Given the description of an element on the screen output the (x, y) to click on. 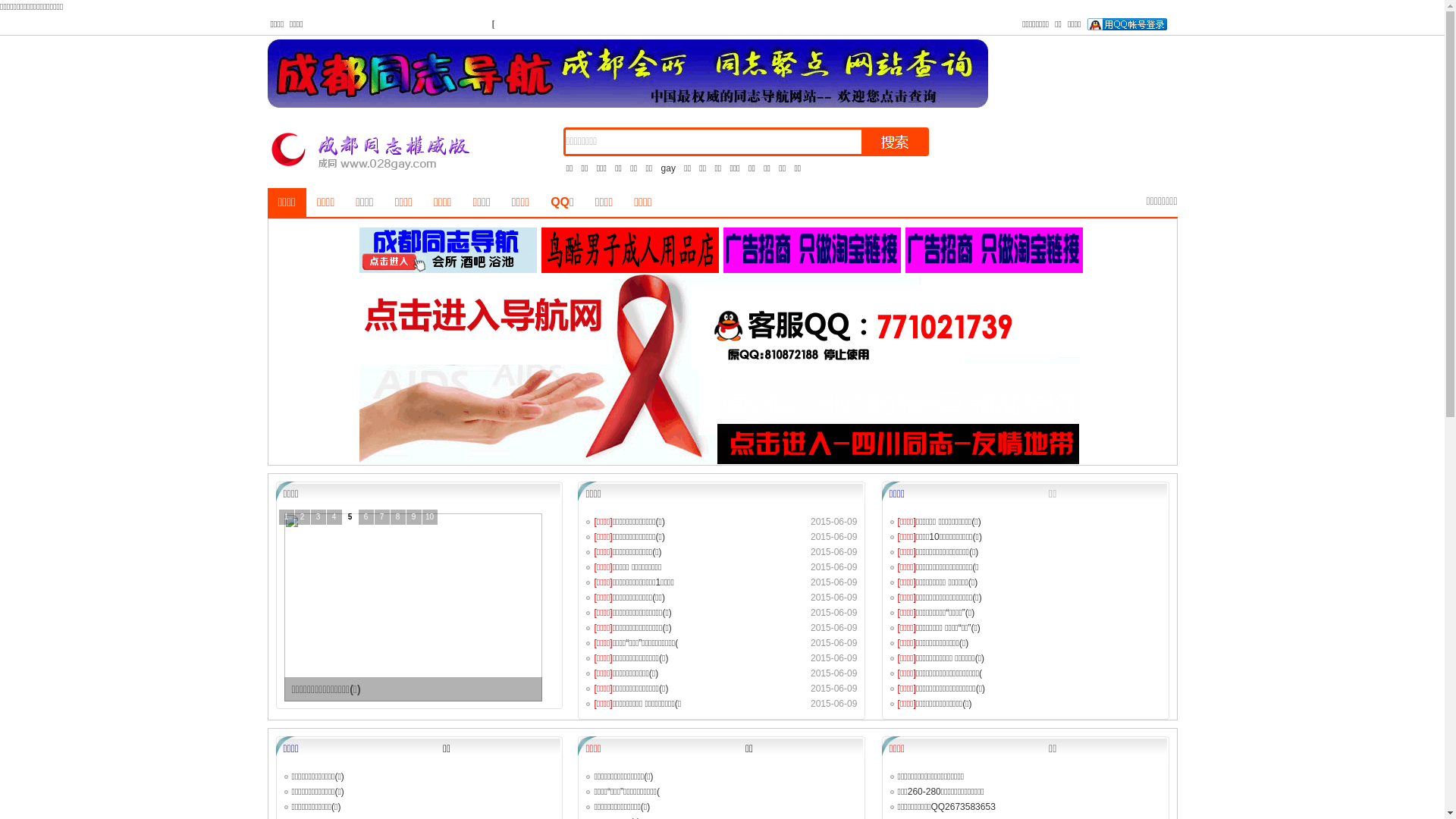
gay Element type: text (668, 168)
